Given the description of an element on the screen output the (x, y) to click on. 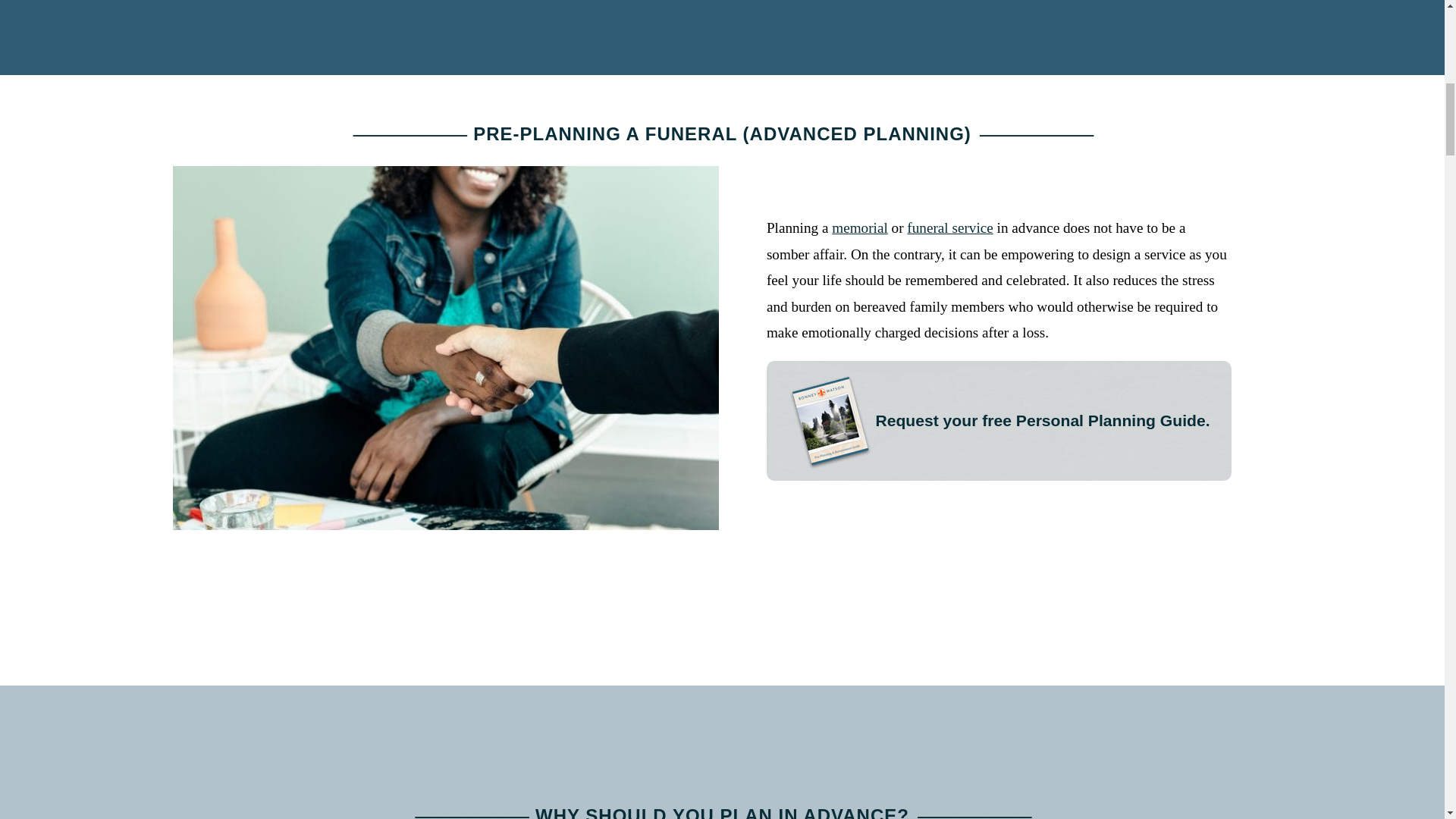
funeral service (949, 227)
memorial (859, 227)
Request your free Personal Planning Guide. (999, 420)
